Given the description of an element on the screen output the (x, y) to click on. 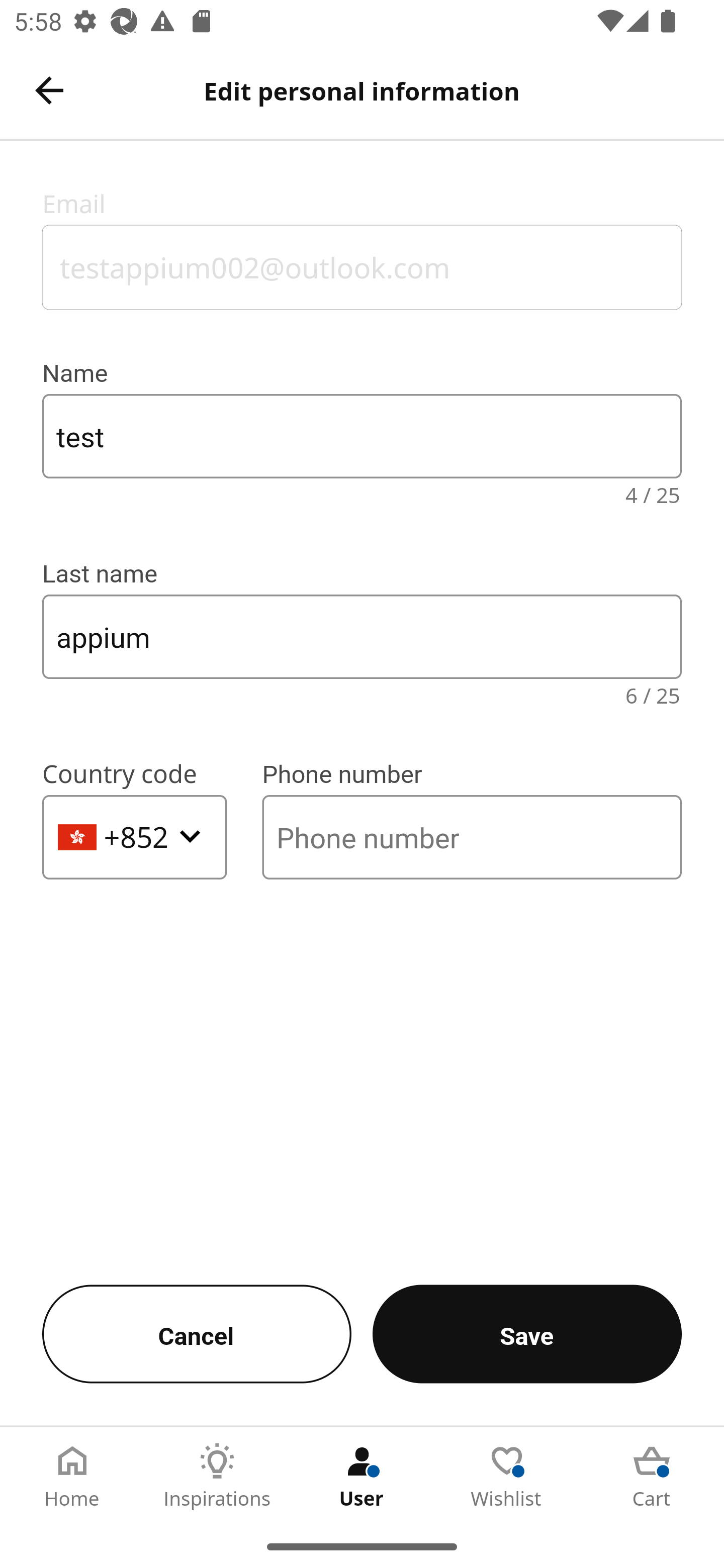
test (361, 435)
appium (361, 636)
+852 (134, 836)
Cancel (196, 1333)
Save (527, 1333)
Home
Tab 1 of 5 (72, 1476)
Inspirations
Tab 2 of 5 (216, 1476)
User
Tab 3 of 5 (361, 1476)
Wishlist
Tab 4 of 5 (506, 1476)
Cart
Tab 5 of 5 (651, 1476)
